Given the description of an element on the screen output the (x, y) to click on. 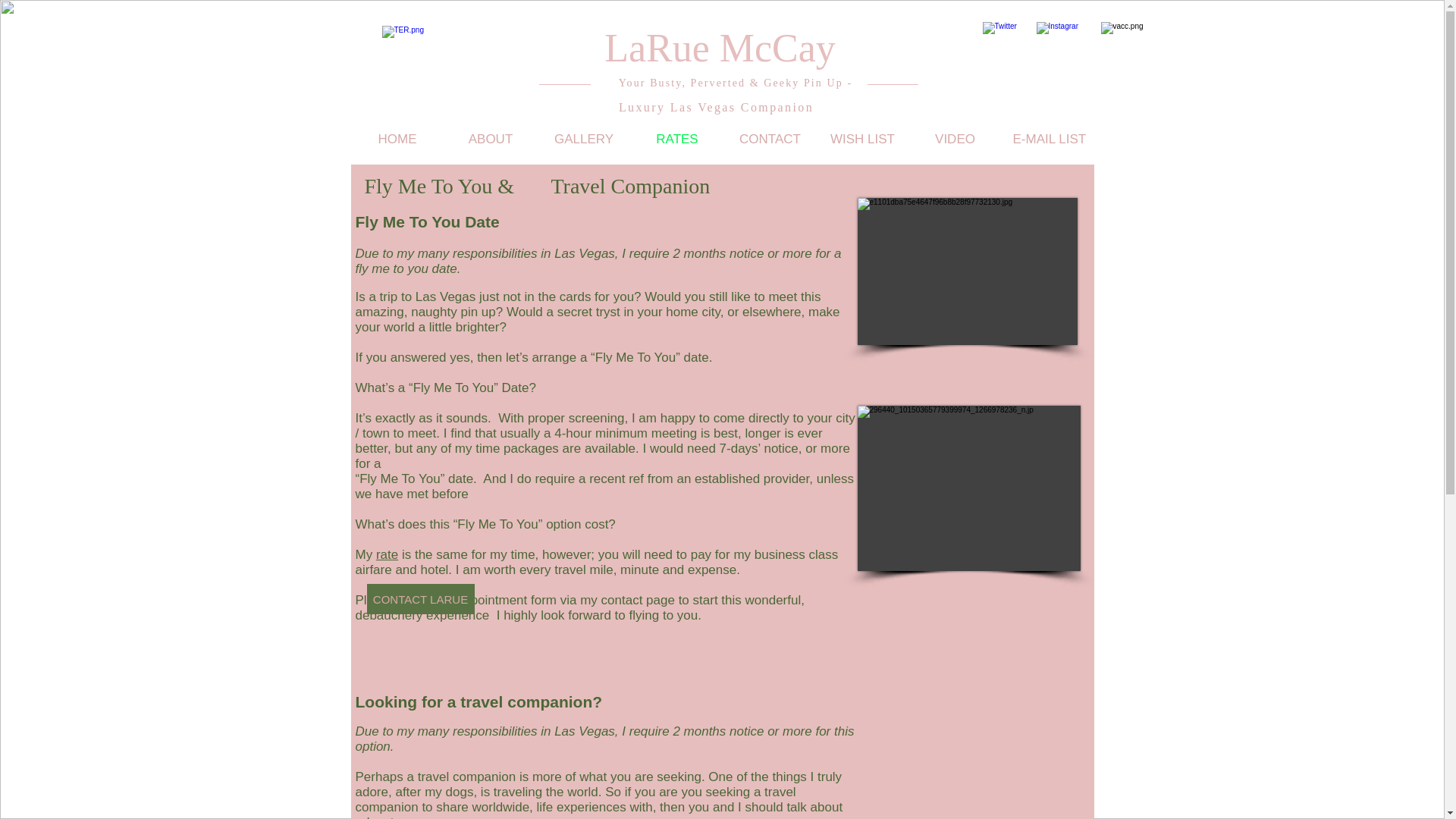
4-hour minimum (600, 432)
E-MAIL LIST (1047, 139)
LaRue McCay (719, 47)
VIDEO (954, 139)
rate (386, 554)
HOME (397, 139)
RATES (676, 139)
CONTACT LARUE (420, 598)
CONTACT (769, 139)
ABOUT (490, 139)
